Given the description of an element on the screen output the (x, y) to click on. 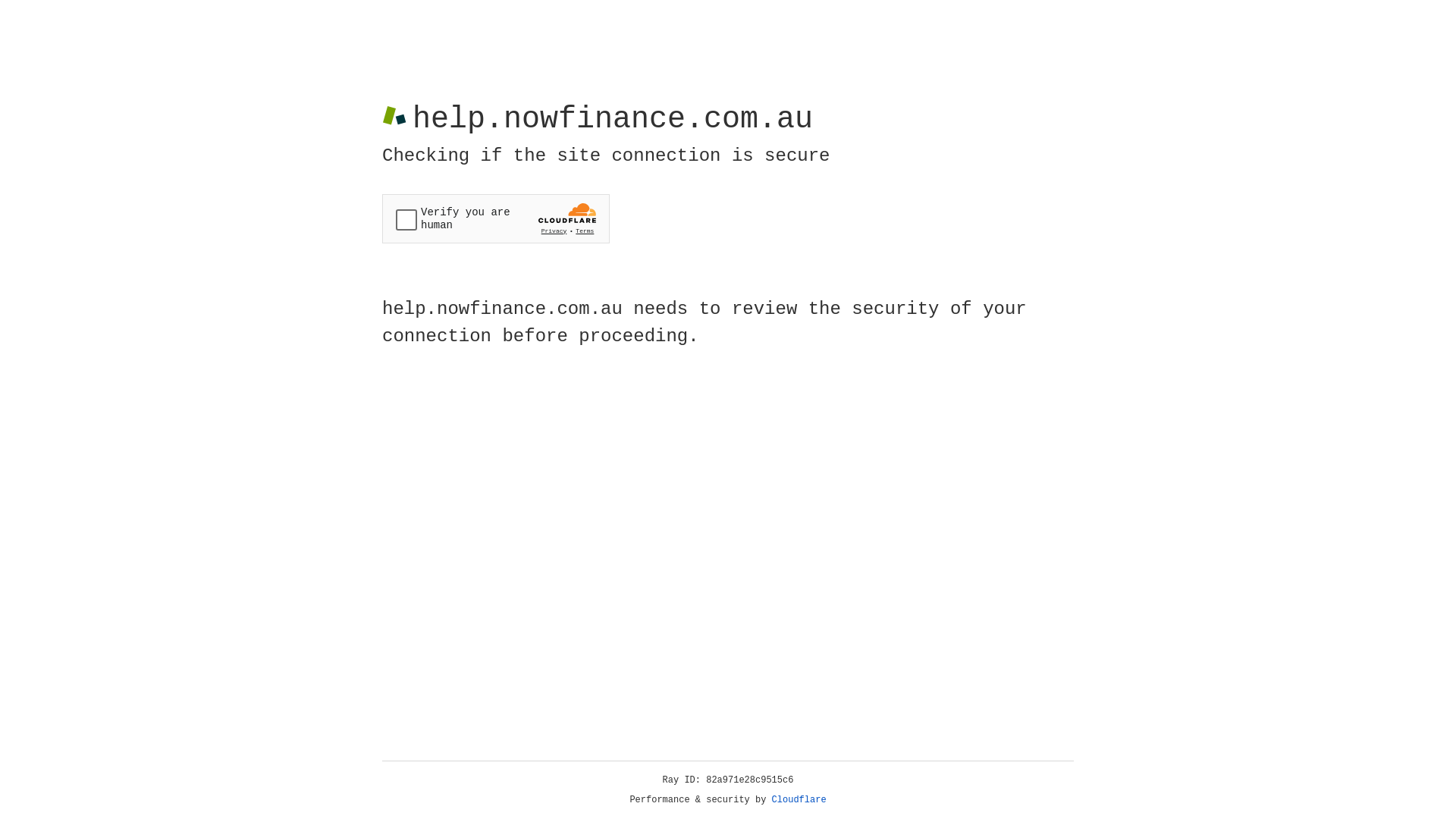
Cloudflare Element type: text (798, 799)
Widget containing a Cloudflare security challenge Element type: hover (495, 218)
